Given the description of an element on the screen output the (x, y) to click on. 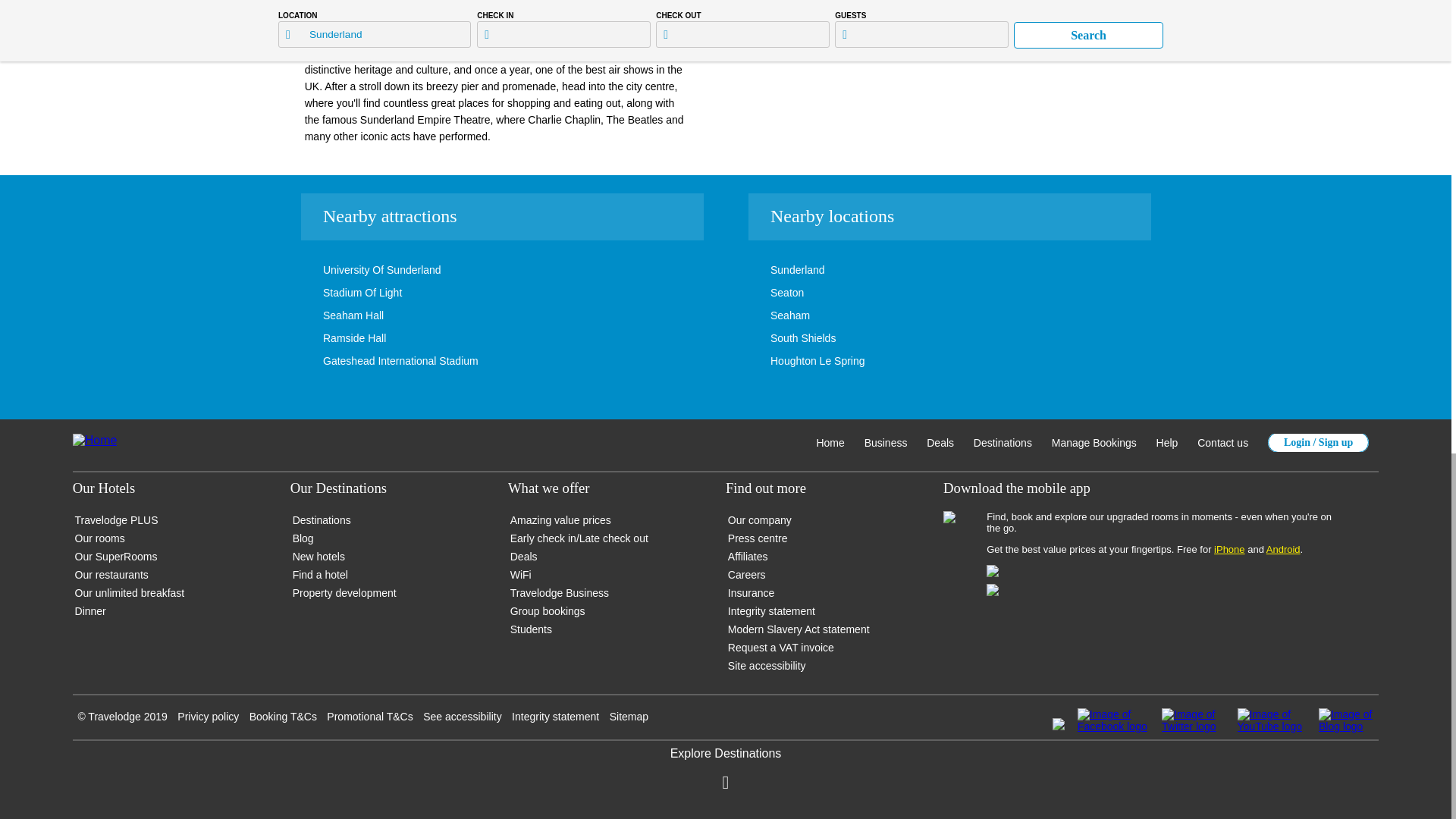
paypal (1058, 726)
South Shields (780, 337)
Houghton Le Spring (794, 360)
Facebook (1112, 726)
Seaham Hall (331, 315)
YouTube (1271, 720)
Ramside Hall (331, 337)
YouTube  (1271, 726)
Twitter (1192, 726)
Seaton (764, 292)
Sunderland (775, 269)
Seaham (767, 315)
Stadium Of Light (339, 292)
Facebook (1112, 720)
Gateshead International Stadium (378, 360)
